Given the description of an element on the screen output the (x, y) to click on. 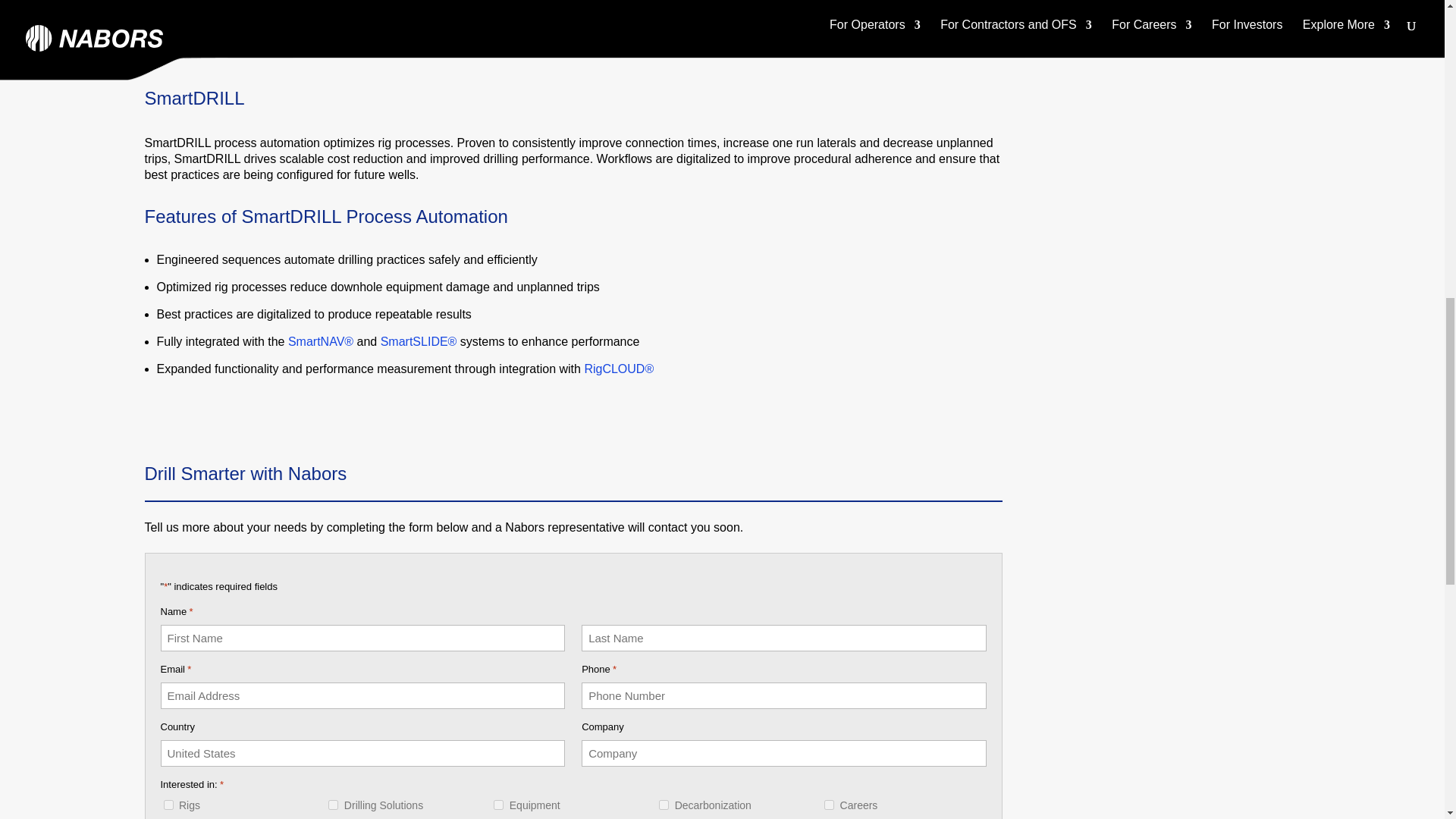
Decarbonization (663, 804)
Rigs (168, 804)
Equipment (498, 804)
Drilling Solutions (333, 804)
Careers (829, 804)
